Given the description of an element on the screen output the (x, y) to click on. 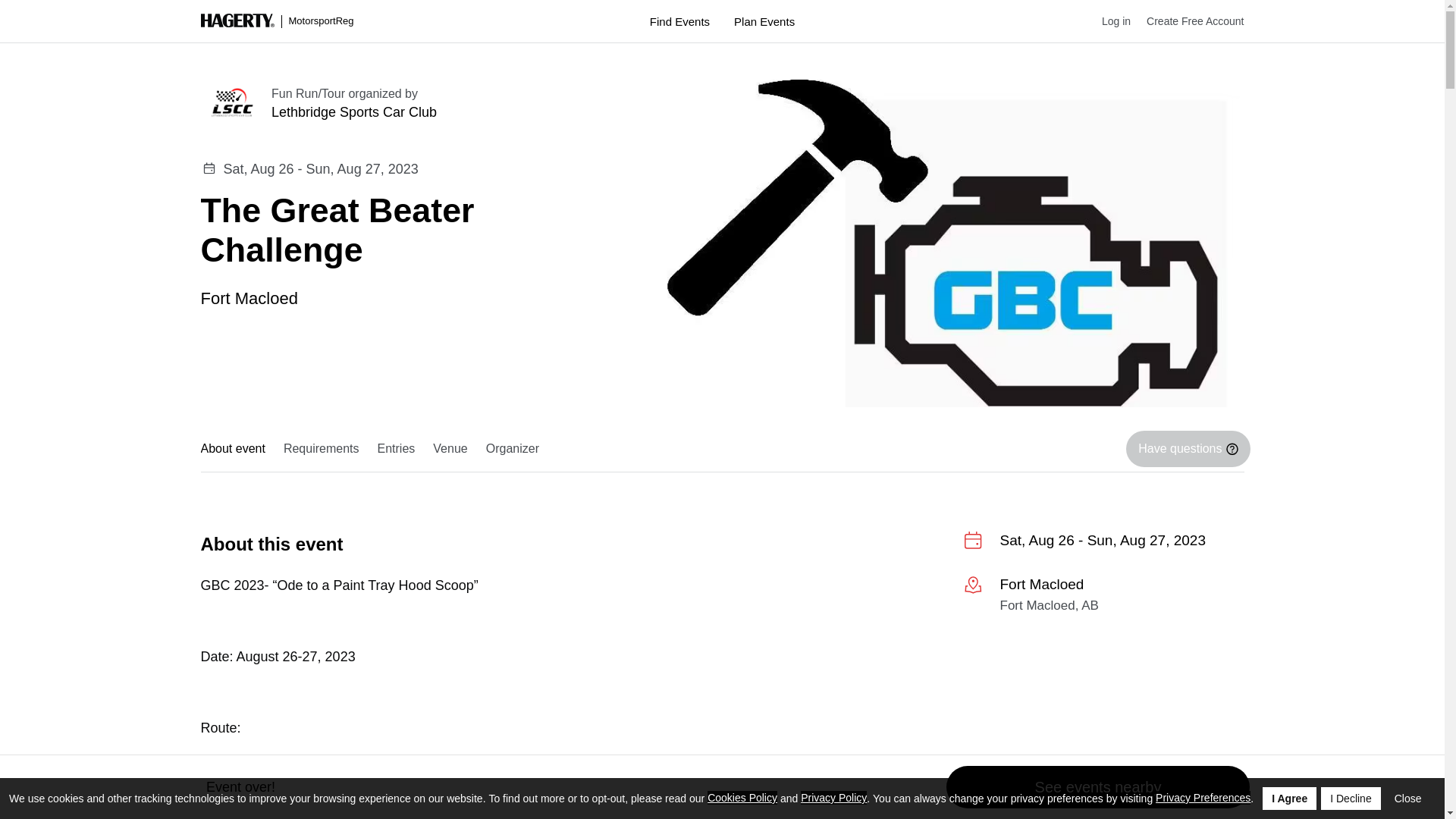
Requirements (321, 449)
About event (236, 449)
Find Events (679, 21)
Close (1408, 798)
Privacy Policy (833, 797)
Fort Macloed (248, 296)
More info (1102, 597)
Cookies Policy (742, 797)
Log in (1108, 21)
Have questions (1187, 448)
Plan Events (764, 21)
Create Free Account (1187, 21)
Organizer (512, 449)
Lethbridge Sports Car Club (447, 112)
Entries (396, 449)
